Given the description of an element on the screen output the (x, y) to click on. 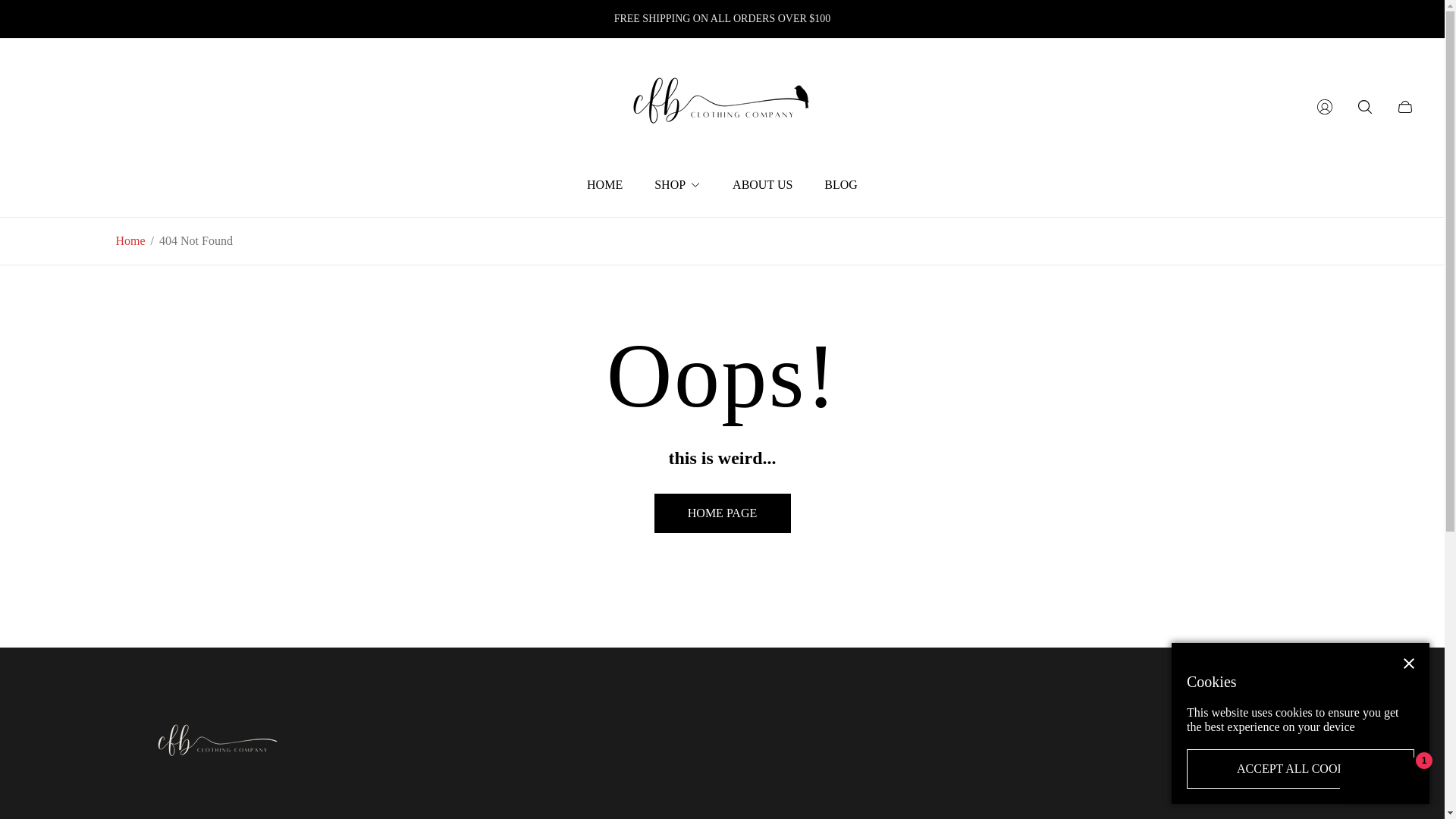
SHOP (677, 184)
ABOUT US (762, 184)
HOME (604, 184)
Shopify online store chat (1383, 781)
Cart drawer. (1405, 106)
Home (129, 240)
BLOG (840, 184)
